Given the description of an element on the screen output the (x, y) to click on. 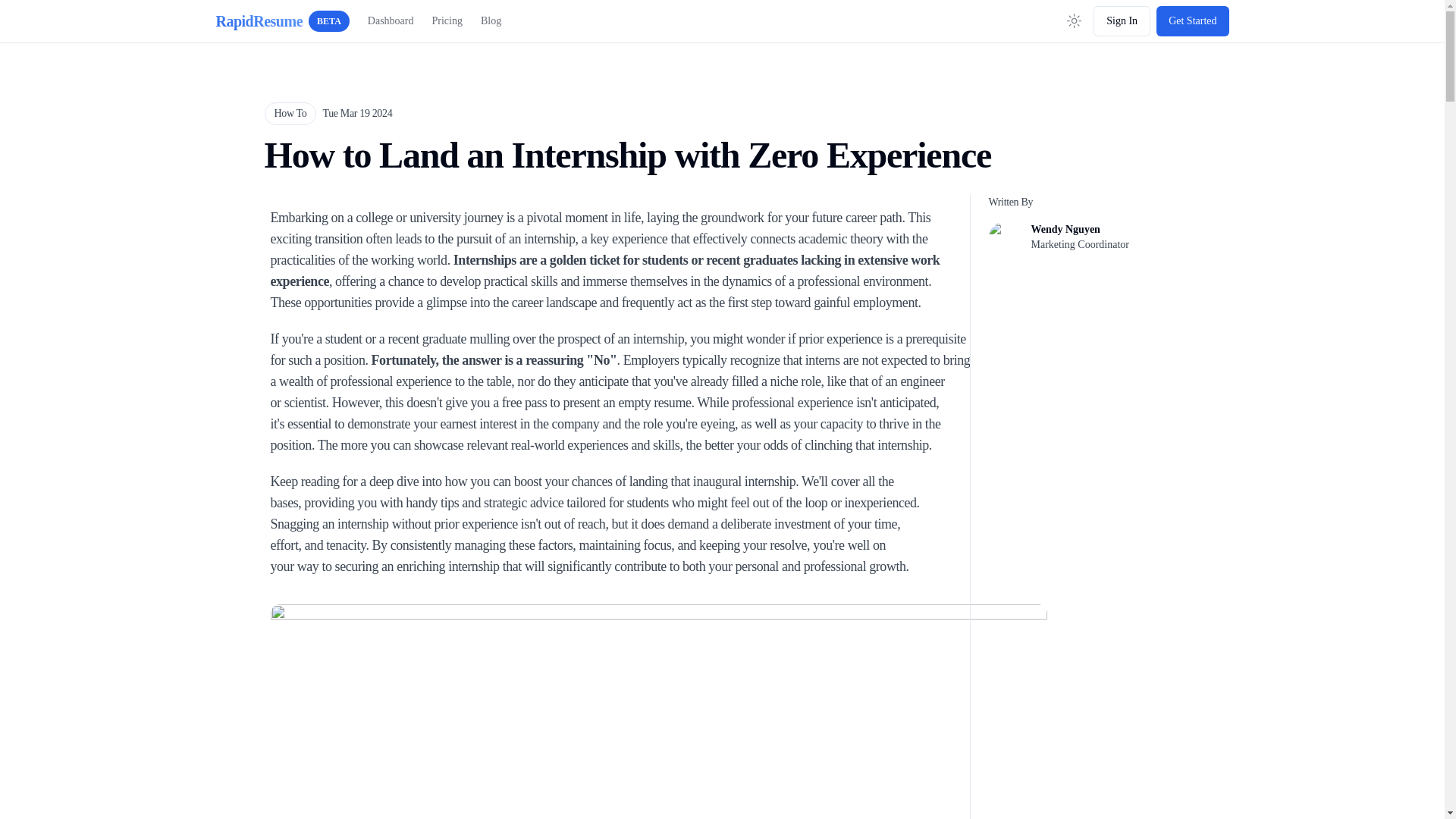
Toggle theme (282, 20)
Get Started (1073, 20)
Blog (1192, 20)
Pricing (490, 20)
Dashboard (445, 20)
Sign In (390, 20)
